Given the description of an element on the screen output the (x, y) to click on. 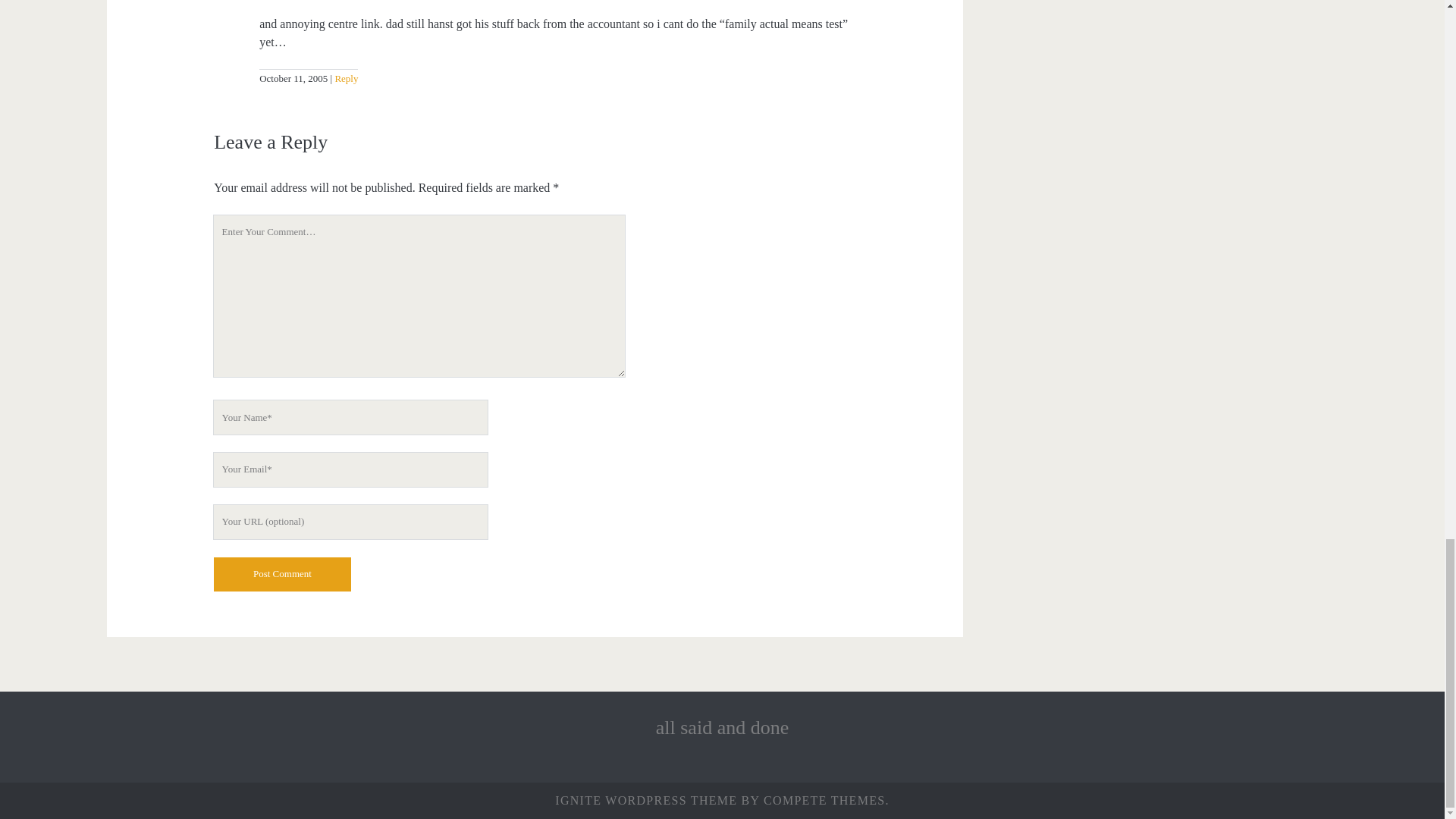
IGNITE WORDPRESS THEME (645, 799)
Reply (344, 78)
Post Comment (282, 574)
all said and done (722, 727)
Post Comment (282, 574)
